Given the description of an element on the screen output the (x, y) to click on. 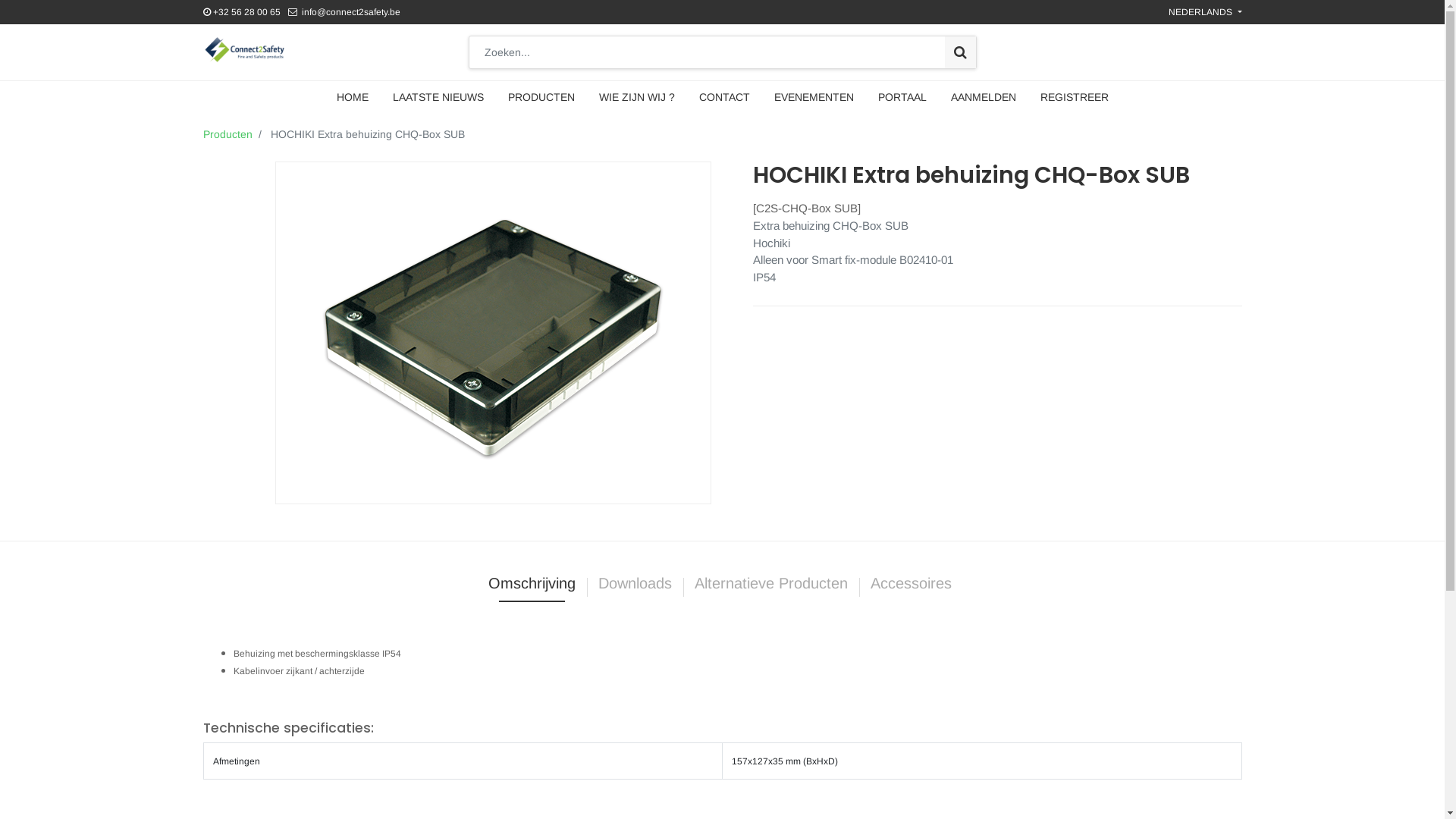
Downloads Element type: text (634, 586)
PORTAAL Element type: text (902, 96)
EVENEMENTEN Element type: text (812, 96)
HOME Element type: text (352, 96)
Connect2Safety Element type: hover (244, 49)
CONTACT Element type: text (724, 96)
AANMELDEN Element type: text (983, 96)
Accessoires  Element type: text (913, 586)
Zoek Element type: hover (959, 52)
WIE ZIJN WIJ ? Element type: text (636, 96)
Producten Element type: text (227, 134)
Omschrijving Element type: text (531, 586)
LAATSTE NIEUWS Element type: text (438, 96)
Alternatieve Producten Element type: text (770, 586)
PRODUCTEN Element type: text (541, 96)
REGISTREER Element type: text (1074, 96)
